Given the description of an element on the screen output the (x, y) to click on. 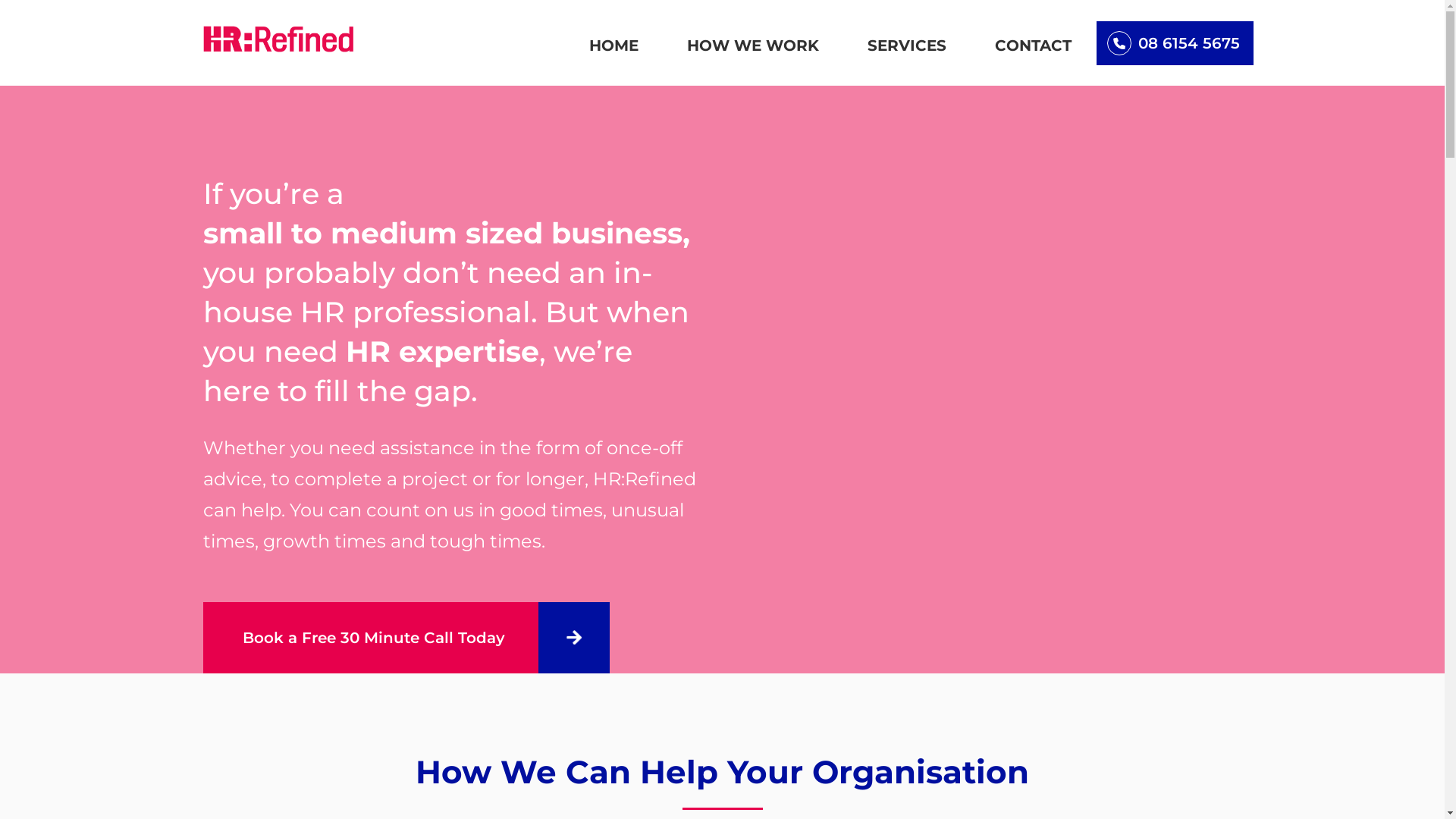
CONTACT Element type: text (1033, 45)
08 6154 5675 Element type: text (1174, 43)
HOW WE WORK Element type: text (752, 45)
Book a Free 30 Minute Call Today Element type: text (406, 637)
HR:Refined Pty Ltd Element type: hover (278, 38)
HOME Element type: text (612, 45)
SERVICES Element type: text (906, 45)
